Given the description of an element on the screen output the (x, y) to click on. 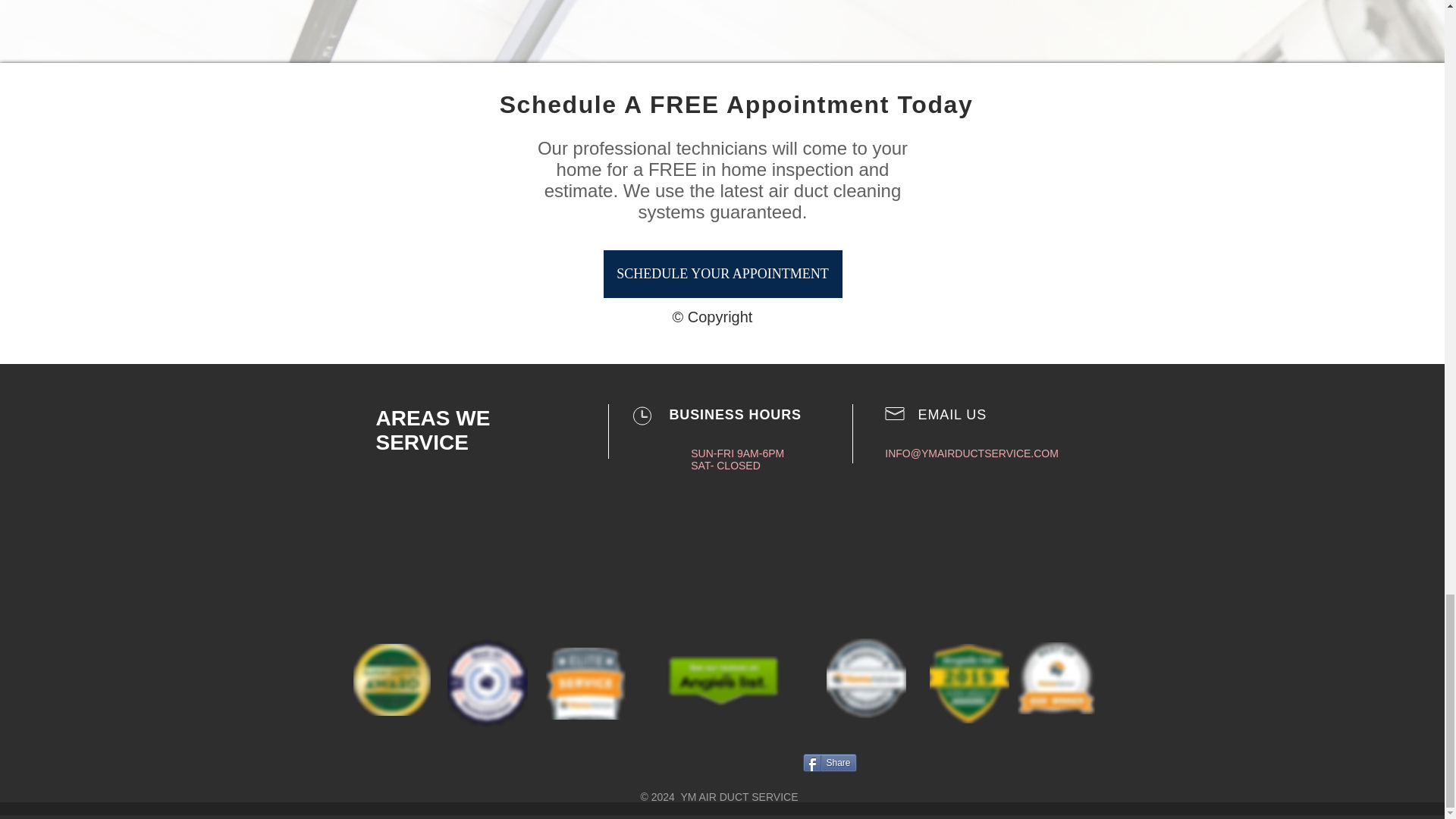
Share (829, 762)
Facebook Like (629, 763)
Share (829, 762)
SCHEDULE YOUR APPOINTMENT (723, 274)
